Given the description of an element on the screen output the (x, y) to click on. 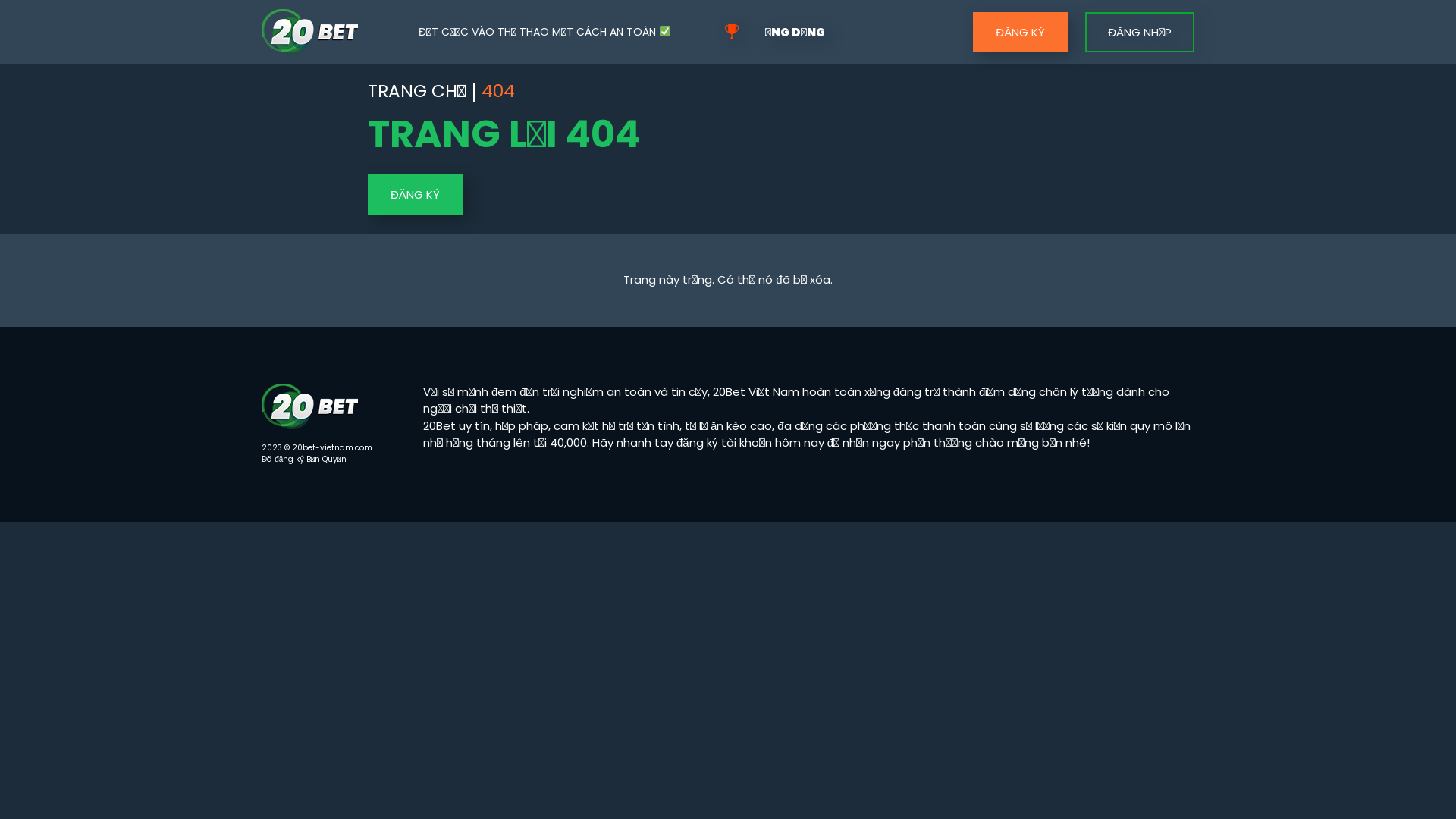
20Bet Element type: hover (309, 31)
20Bet Element type: hover (309, 406)
404 Element type: text (497, 92)
